Given the description of an element on the screen output the (x, y) to click on. 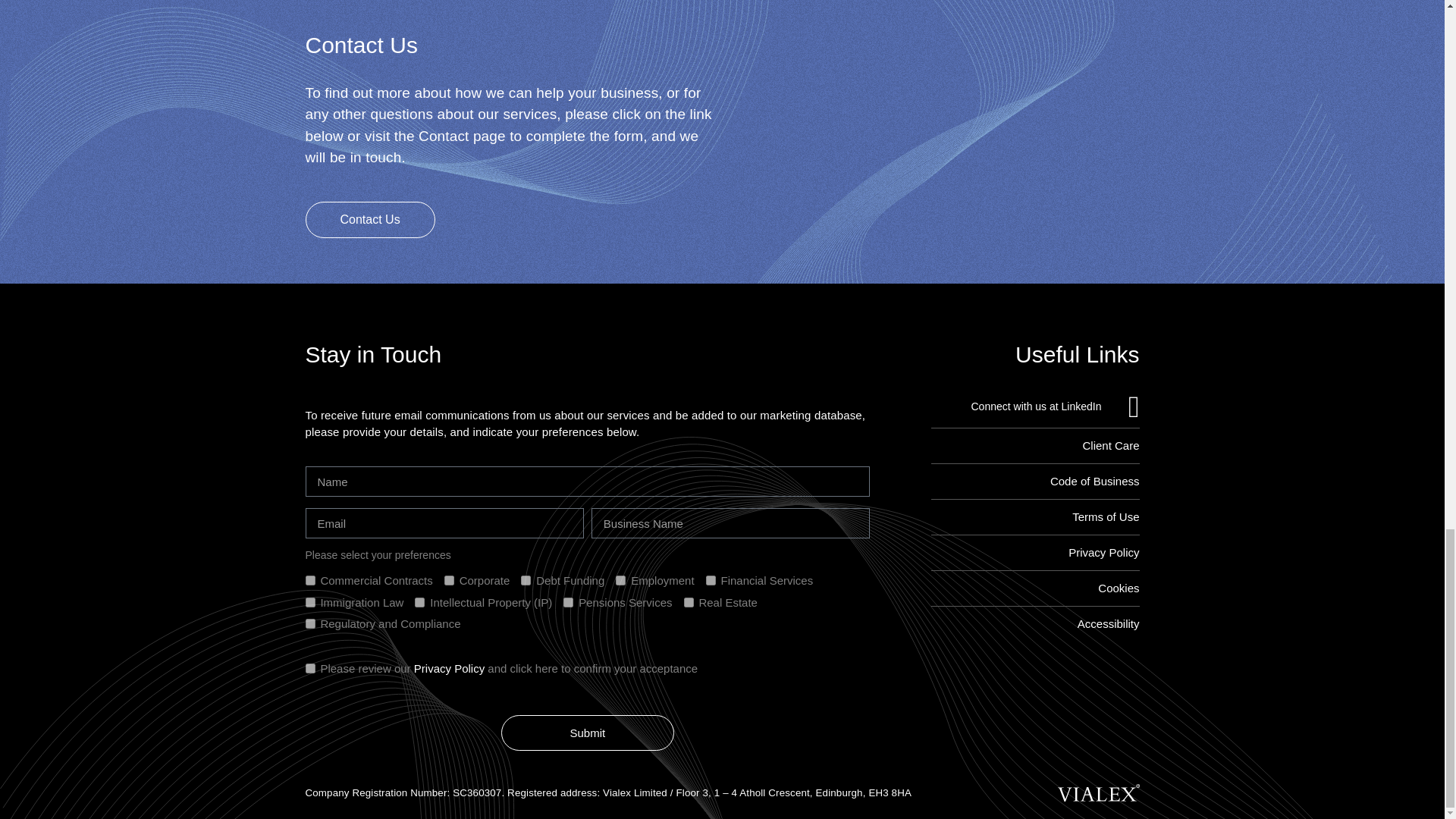
 ffs (711, 580)
on (309, 668)
 fre (689, 602)
Privacy Policy (448, 667)
Commercial Contracts (309, 580)
 frc (309, 623)
 fip (419, 602)
Cookies (1035, 588)
Privacy Policy (1035, 552)
 fps (568, 602)
